Given the description of an element on the screen output the (x, y) to click on. 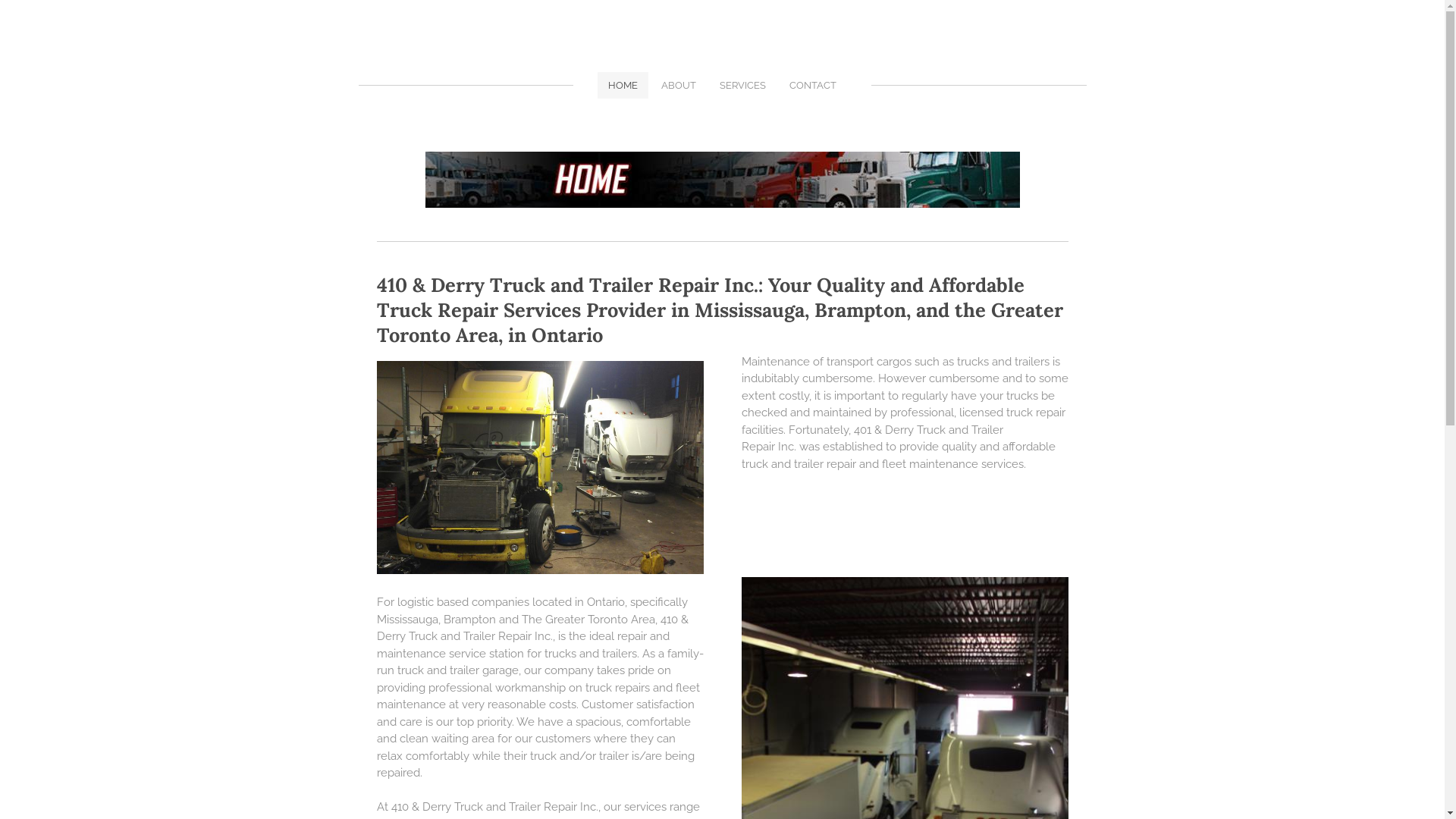
SERVICES Element type: text (742, 85)
ABOUT Element type: text (678, 85)
CONTACT Element type: text (812, 85)
HOME Element type: text (622, 85)
